Given the description of an element on the screen output the (x, y) to click on. 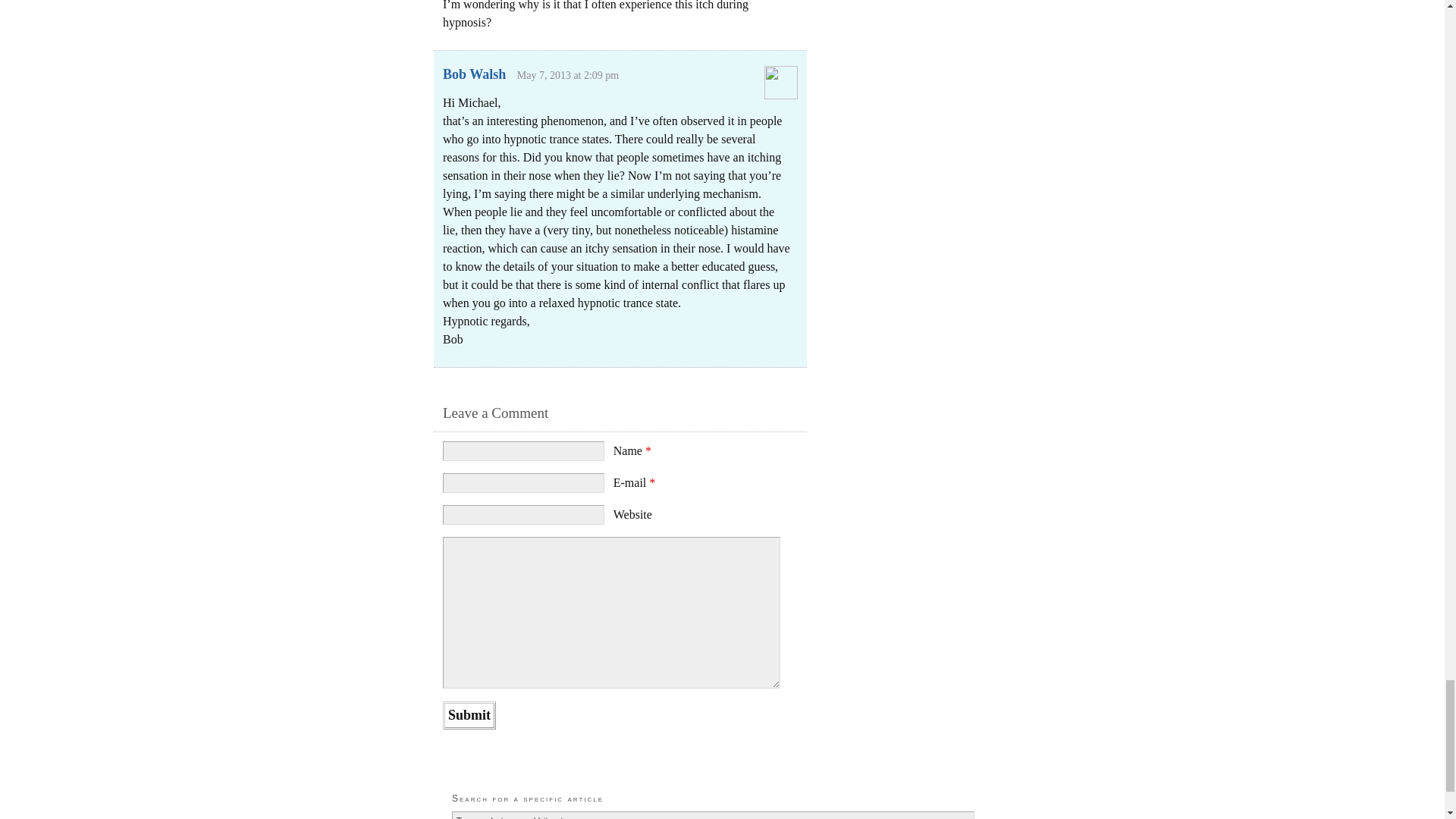
Permalink to this comment (568, 75)
May 7, 2013 at 2:09 pm (568, 75)
Bob Walsh (473, 73)
Submit (469, 715)
To search, type and hit enter (712, 815)
Submit (469, 715)
